Given the description of an element on the screen output the (x, y) to click on. 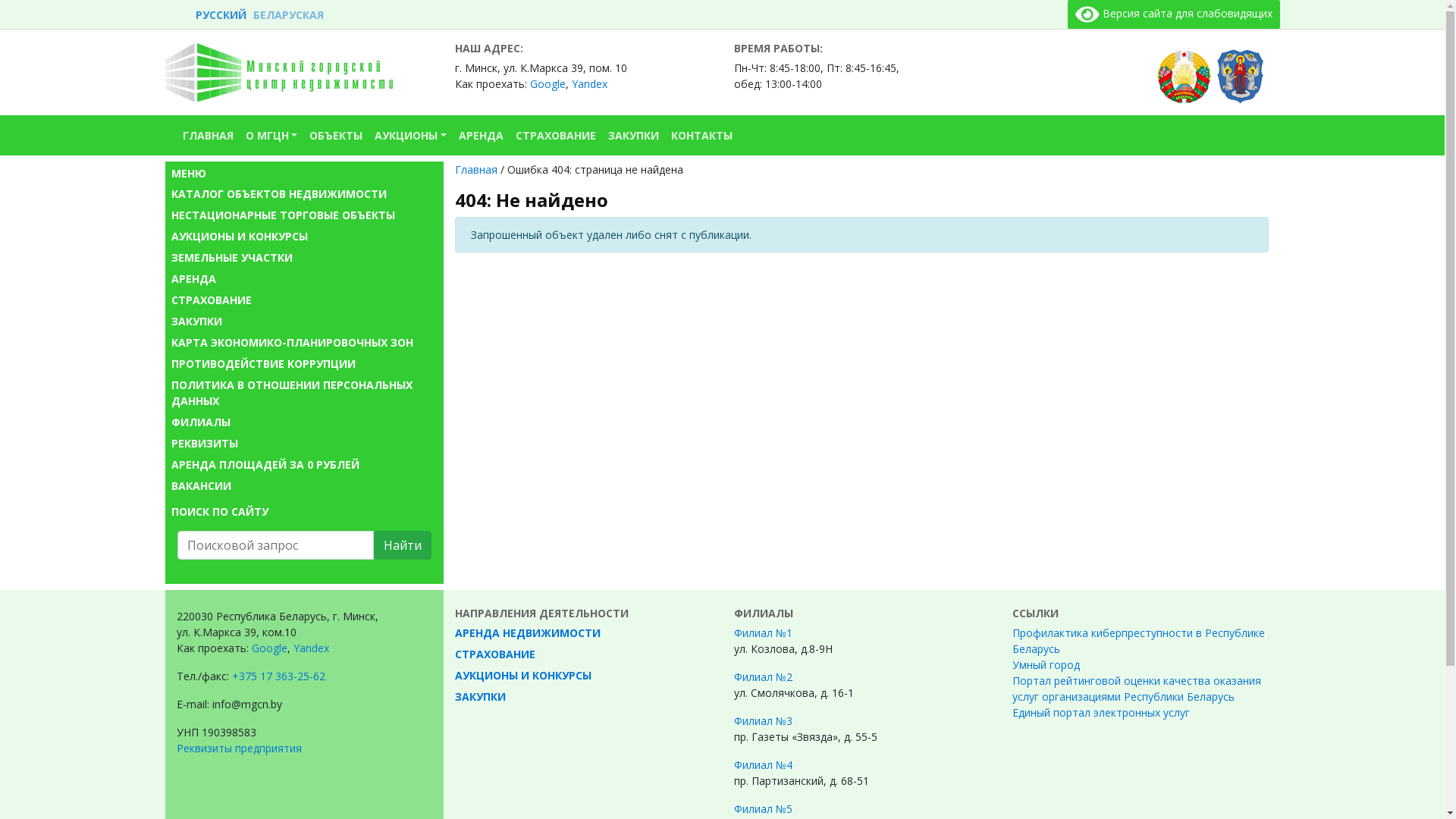
Google Element type: text (269, 647)
+375 17 363-25-62 Element type: text (278, 675)
Google Element type: text (547, 83)
Yandex Element type: text (589, 83)
Yandex Element type: text (310, 647)
